Given the description of an element on the screen output the (x, y) to click on. 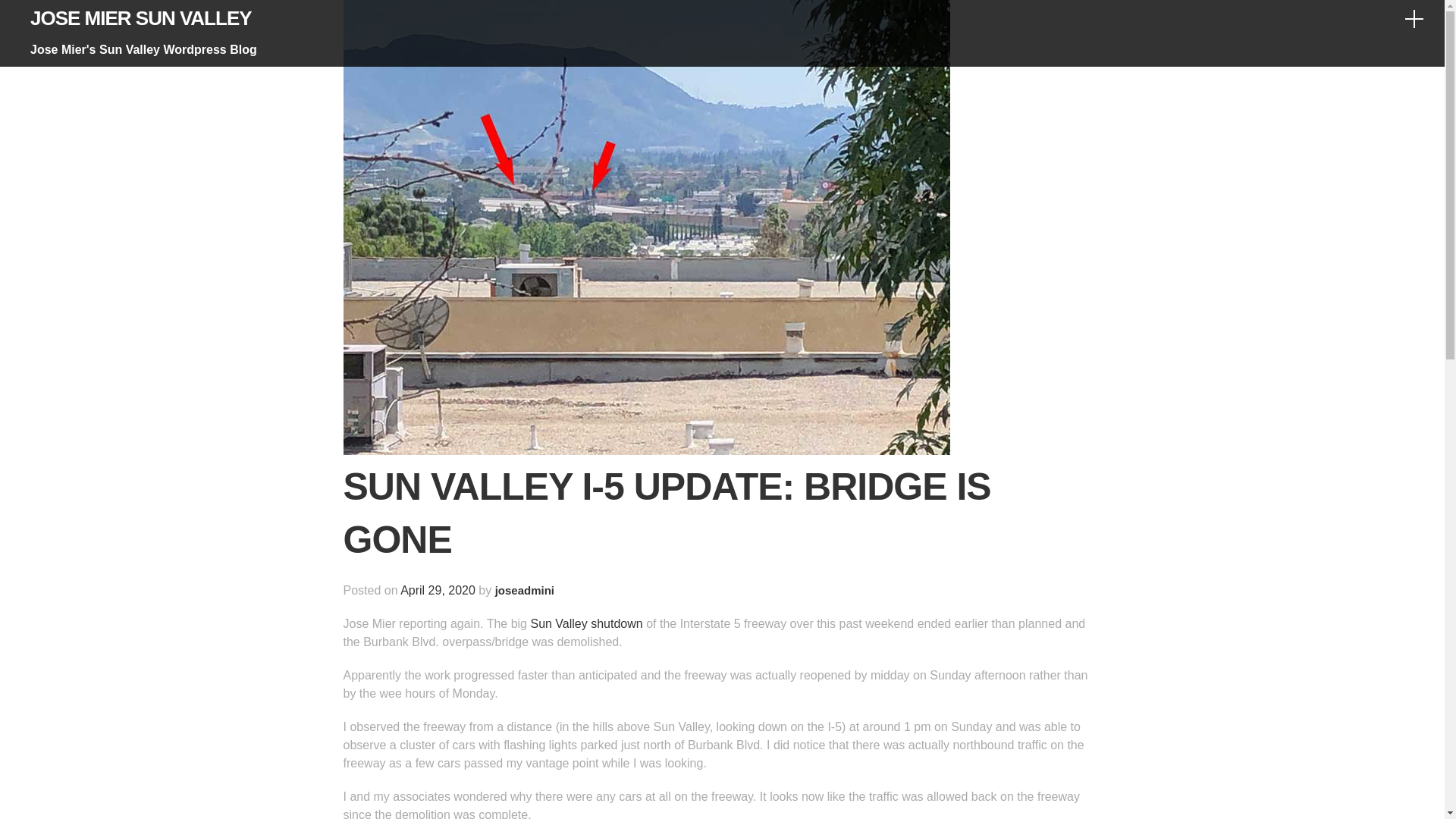
April 29, 2020 (438, 590)
Sun Valley shutdown (585, 623)
JOSE MIER SUN VALLEY (140, 17)
joseadmini (524, 590)
